Given the description of an element on the screen output the (x, y) to click on. 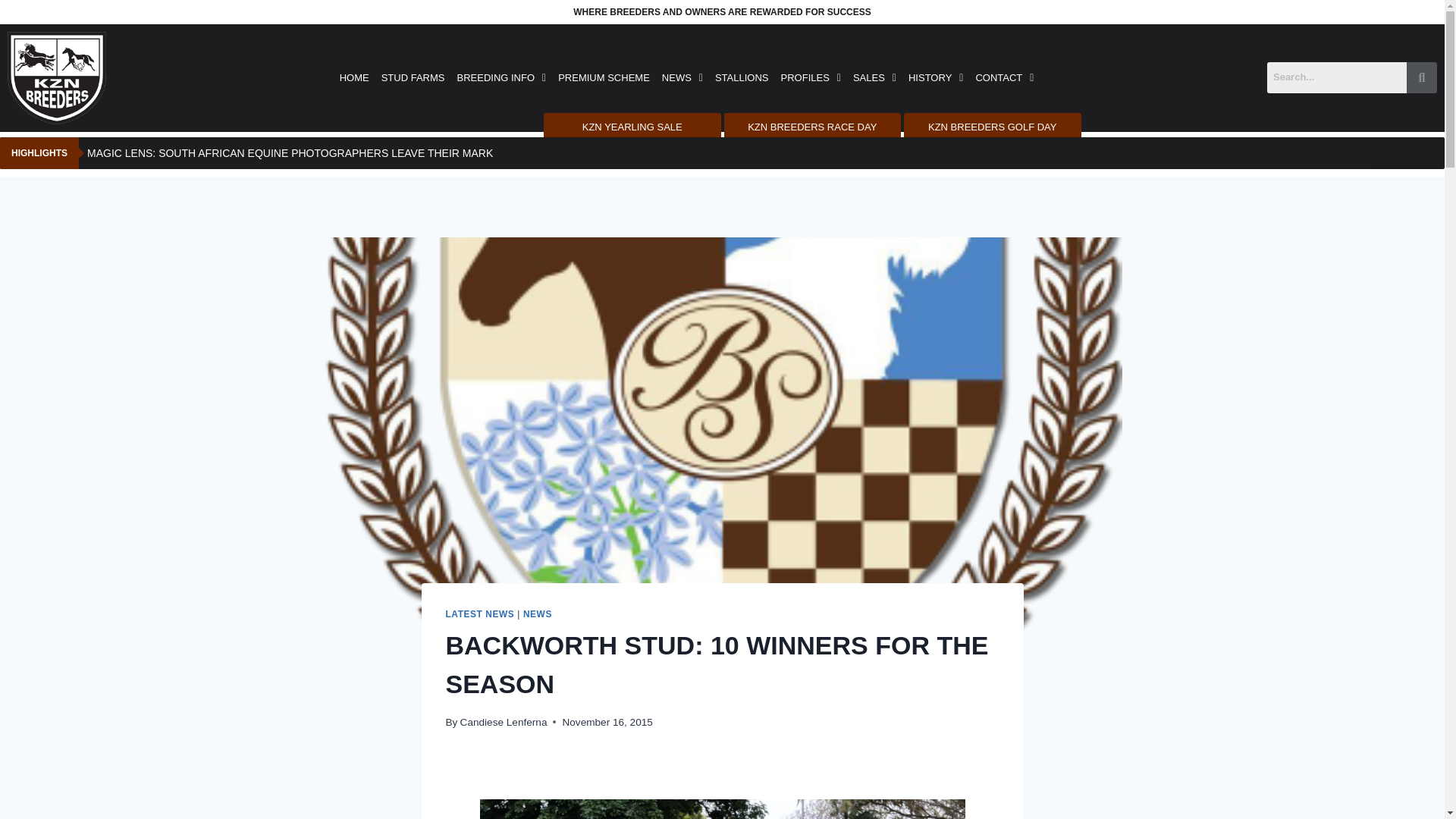
Search (1336, 77)
STUD FARMS (413, 77)
BREEDING INFO (500, 77)
HOME (354, 77)
